Given the description of an element on the screen output the (x, y) to click on. 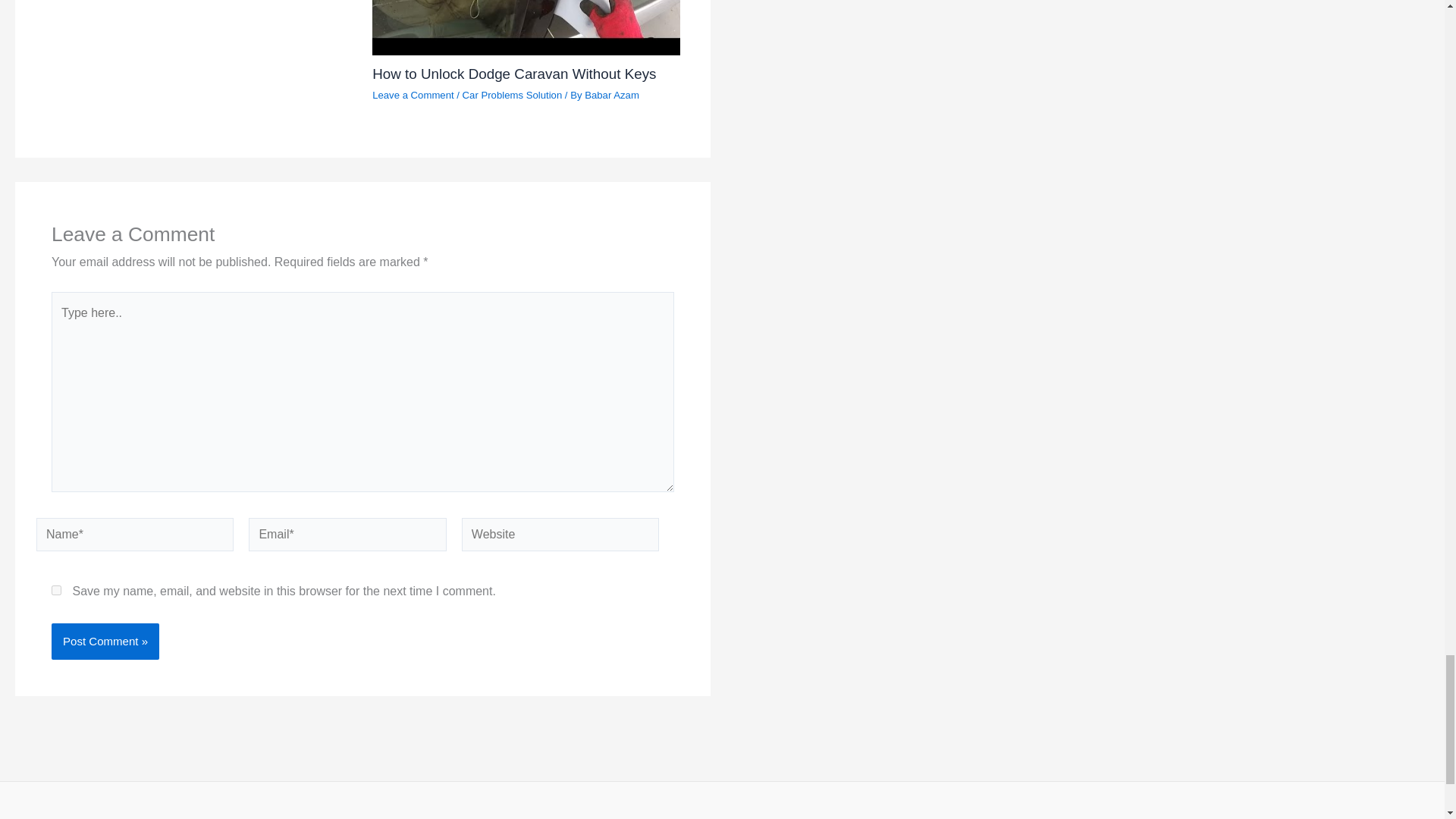
Privacy Policy (767, 817)
How to Unlock Dodge Caravan Without Keys (514, 73)
About (653, 817)
Car Problems Solution (512, 94)
Contact (699, 817)
View all posts by Babar Azam (612, 94)
yes (55, 590)
Leave a Comment (413, 94)
Babar Azam (612, 94)
